Given the description of an element on the screen output the (x, y) to click on. 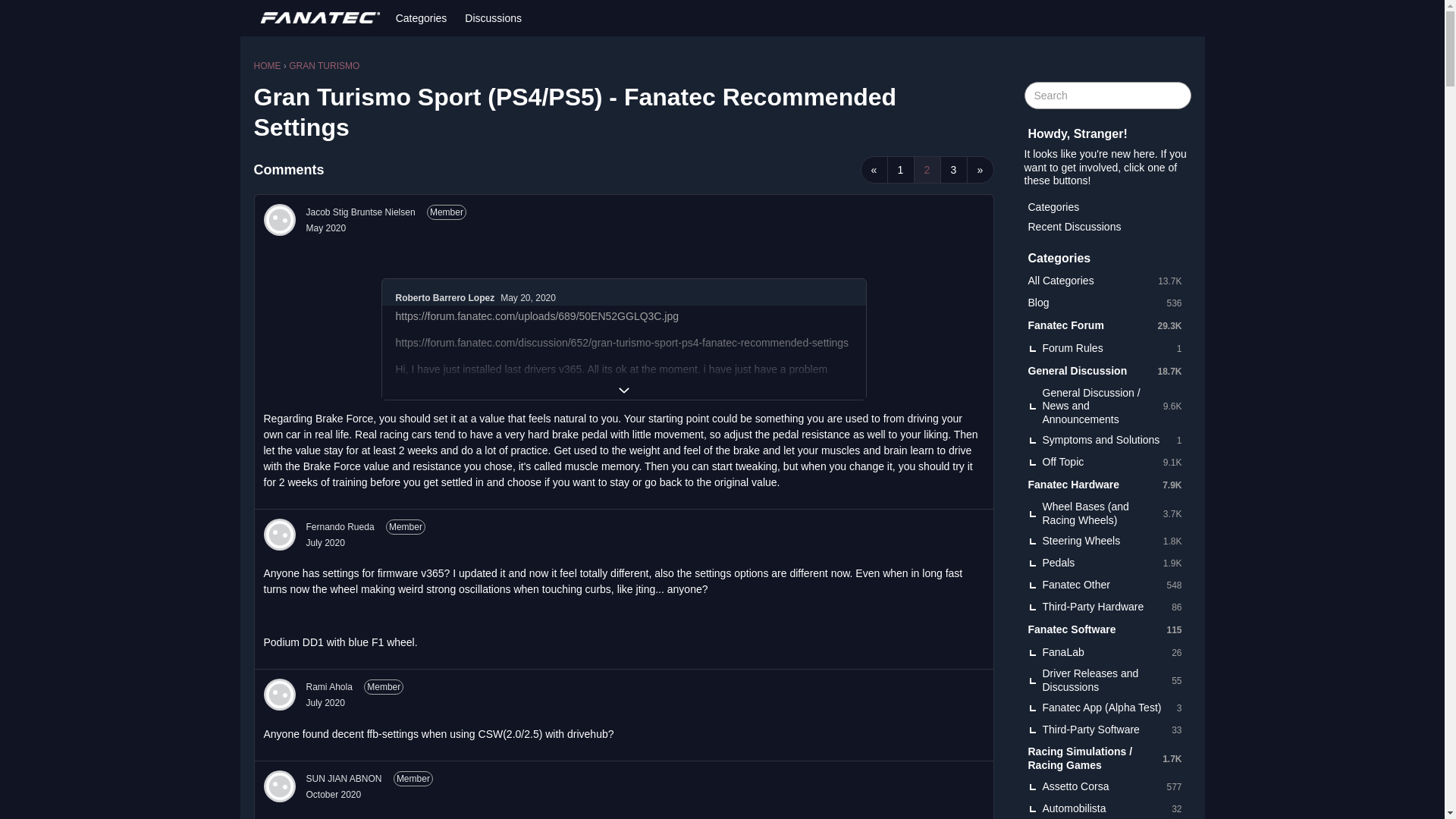
May 20, 2020 (528, 297)
Rami Ahola (328, 686)
Expand (622, 390)
2 (926, 169)
1 (900, 169)
Jacob Stig Bruntse Nielsen (359, 212)
Jacob Stig Bruntse Nielsen (279, 219)
July 2020 (325, 702)
Expand (623, 390)
May 2020 (325, 227)
GRAN TURISMO (323, 65)
Fernando Rueda (279, 534)
HOME (267, 65)
Go (1177, 94)
Wednesday, May 20, 2020 at 2:57 AM (528, 297)
